Given the description of an element on the screen output the (x, y) to click on. 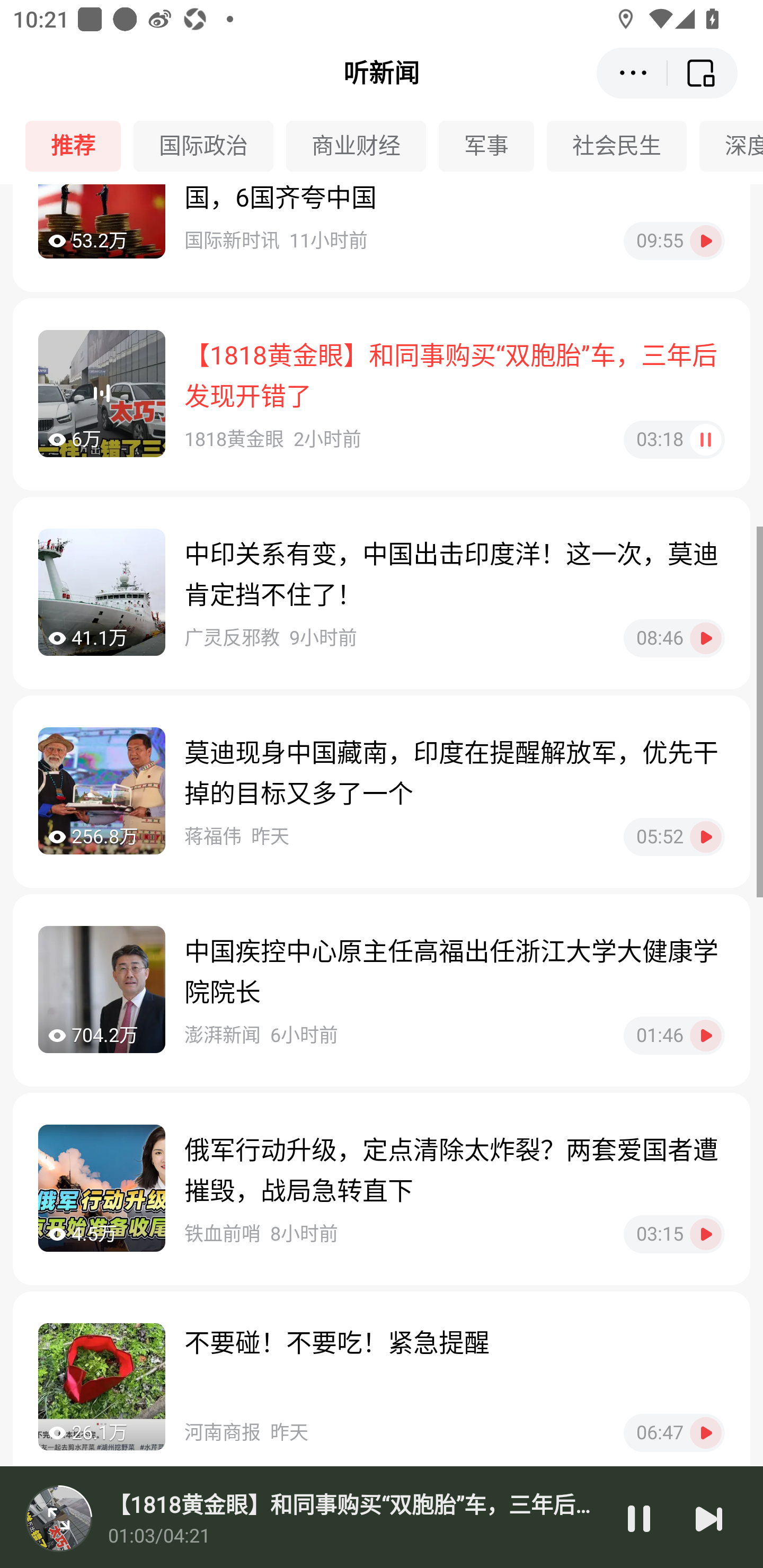
更多 (631, 72)
返回 (702, 72)
推荐 (79, 146)
国际政治 (209, 146)
商业财经 (362, 146)
军事 (492, 146)
社会民生 (623, 146)
09:55 (673, 241)
6万 【1818黄金眼】和同事购买“双胞胎”车，三年后发现开错了 1818黄金眼2小时前 03:18 (381, 393)
03:18 (673, 439)
41.1万 中印关系有变，中国出击印度洋！这一次，莫迪肯定挡不住了！ 广灵反邪教9小时前 08:46 (381, 593)
08:46 (673, 637)
256.8万 莫迪现身中国藏南，印度在提醒解放军，优先干掉的目标又多了一个 蒋福伟昨天 05:52 (381, 791)
05:52 (673, 837)
704.2万 中国疾控中心原主任高福出任浙江大学大健康学院院长 澎湃新闻6小时前 01:46 (381, 989)
01:46 (673, 1035)
4.5万 俄军行动升级，定点清除太炸裂？两套爱国者遭摧毁，战局急转直下 铁血前哨8小时前 03:15 (381, 1188)
03:15 (673, 1233)
26.1万 不要碰！不要吃！紧急提醒 河南商报昨天 06:47 (381, 1387)
06:47 (673, 1432)
暂停 (638, 1518)
下一篇 (708, 1518)
